Given the description of an element on the screen output the (x, y) to click on. 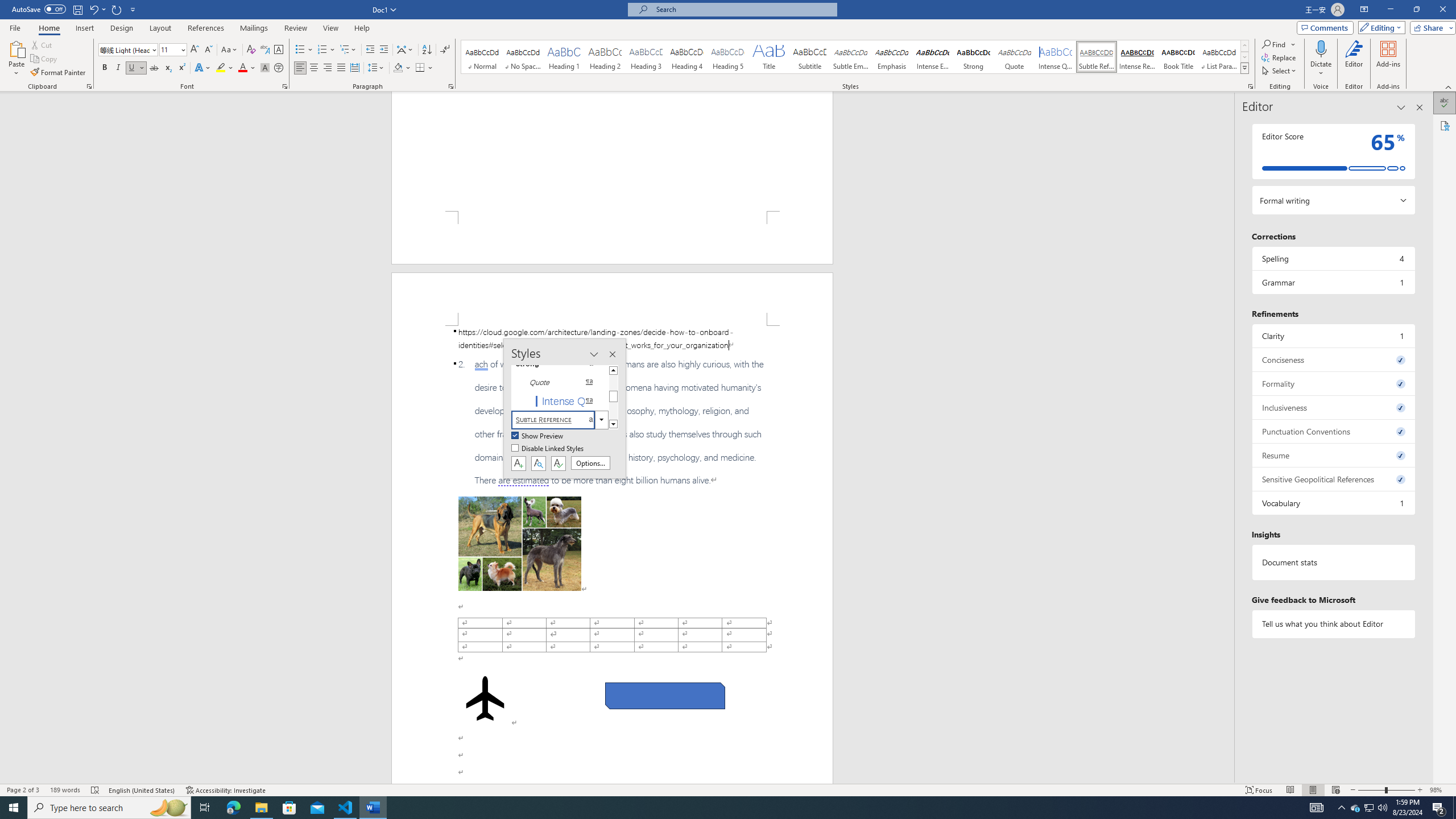
Title (768, 56)
Intense Emphasis (932, 56)
Line and Paragraph Spacing (376, 67)
Phonetic Guide... (264, 49)
Font Color (246, 67)
Grow Font (193, 49)
Heading 3 (646, 56)
Select (1279, 69)
